Given the description of an element on the screen output the (x, y) to click on. 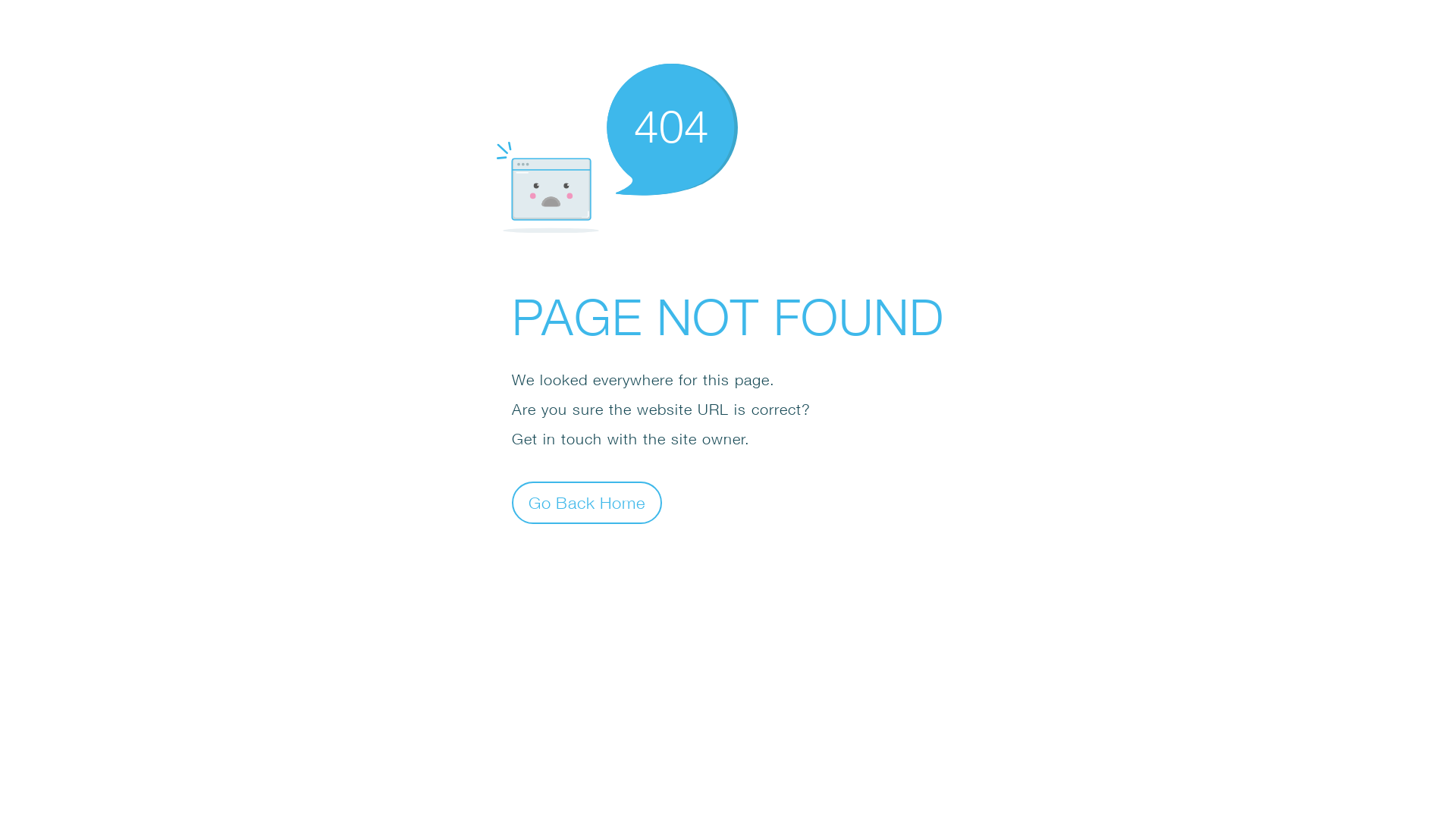
Go Back Home Element type: text (586, 502)
